Given the description of an element on the screen output the (x, y) to click on. 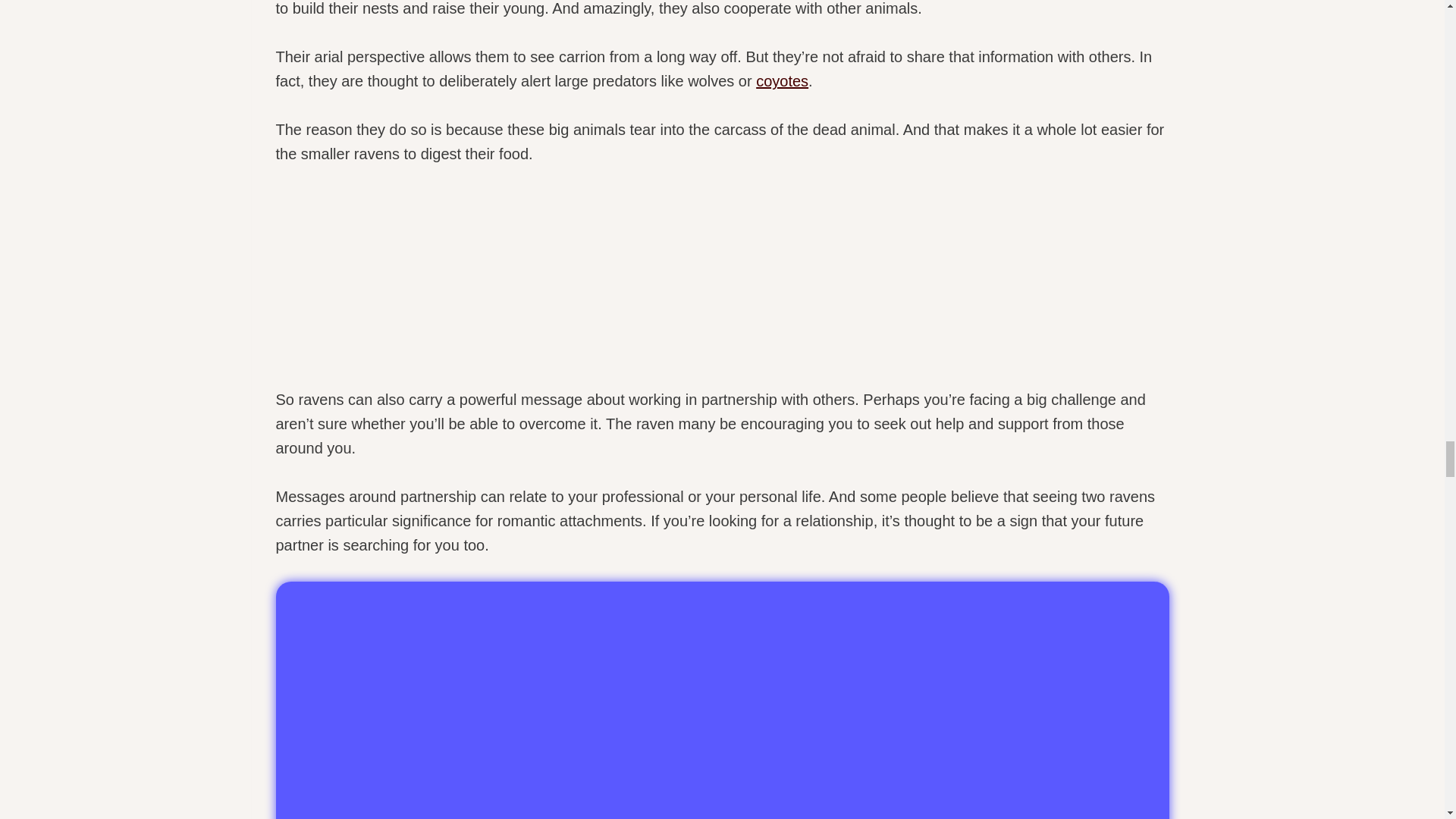
coyotes (781, 80)
